Given the description of an element on the screen output the (x, y) to click on. 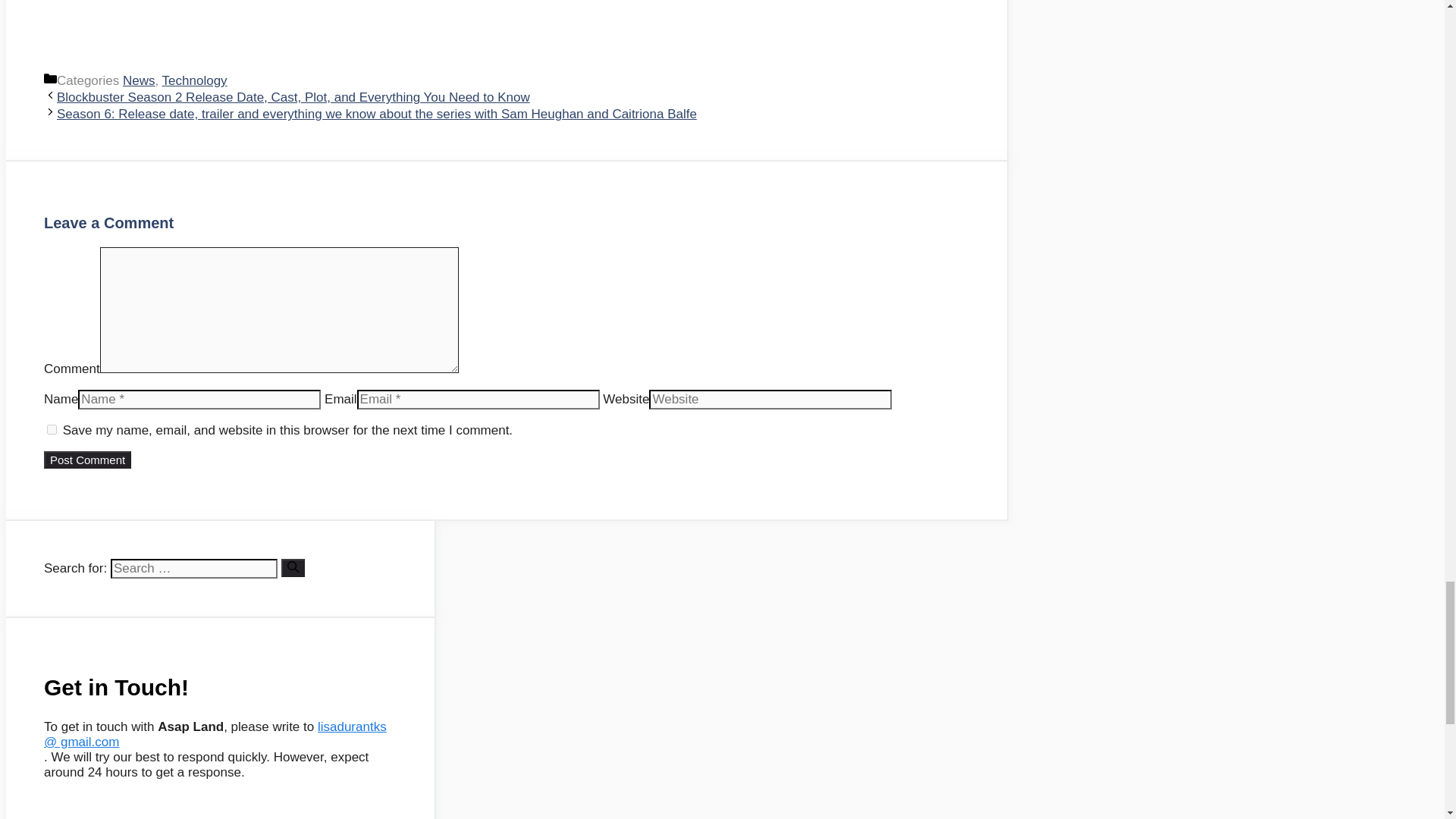
Search for: (194, 568)
Technology (194, 80)
yes (51, 429)
Post Comment (87, 459)
Post Comment (87, 459)
News (138, 80)
